Given the description of an element on the screen output the (x, y) to click on. 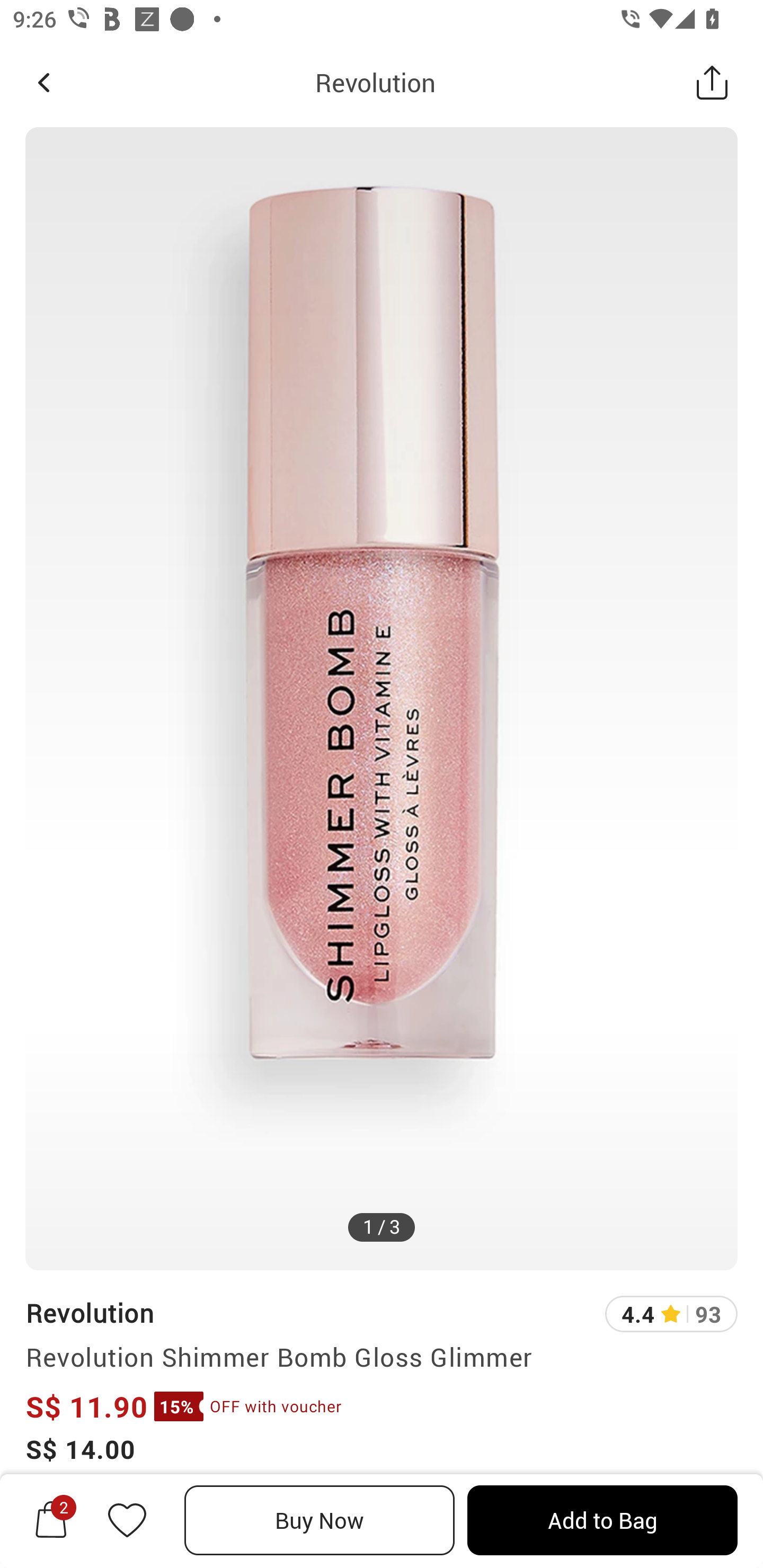
Revolution (375, 82)
Share this Product (711, 82)
Revolution (89, 1312)
4.4 93 (671, 1313)
Buy Now (319, 1519)
Add to Bag (601, 1519)
2 (50, 1520)
